Given the description of an element on the screen output the (x, y) to click on. 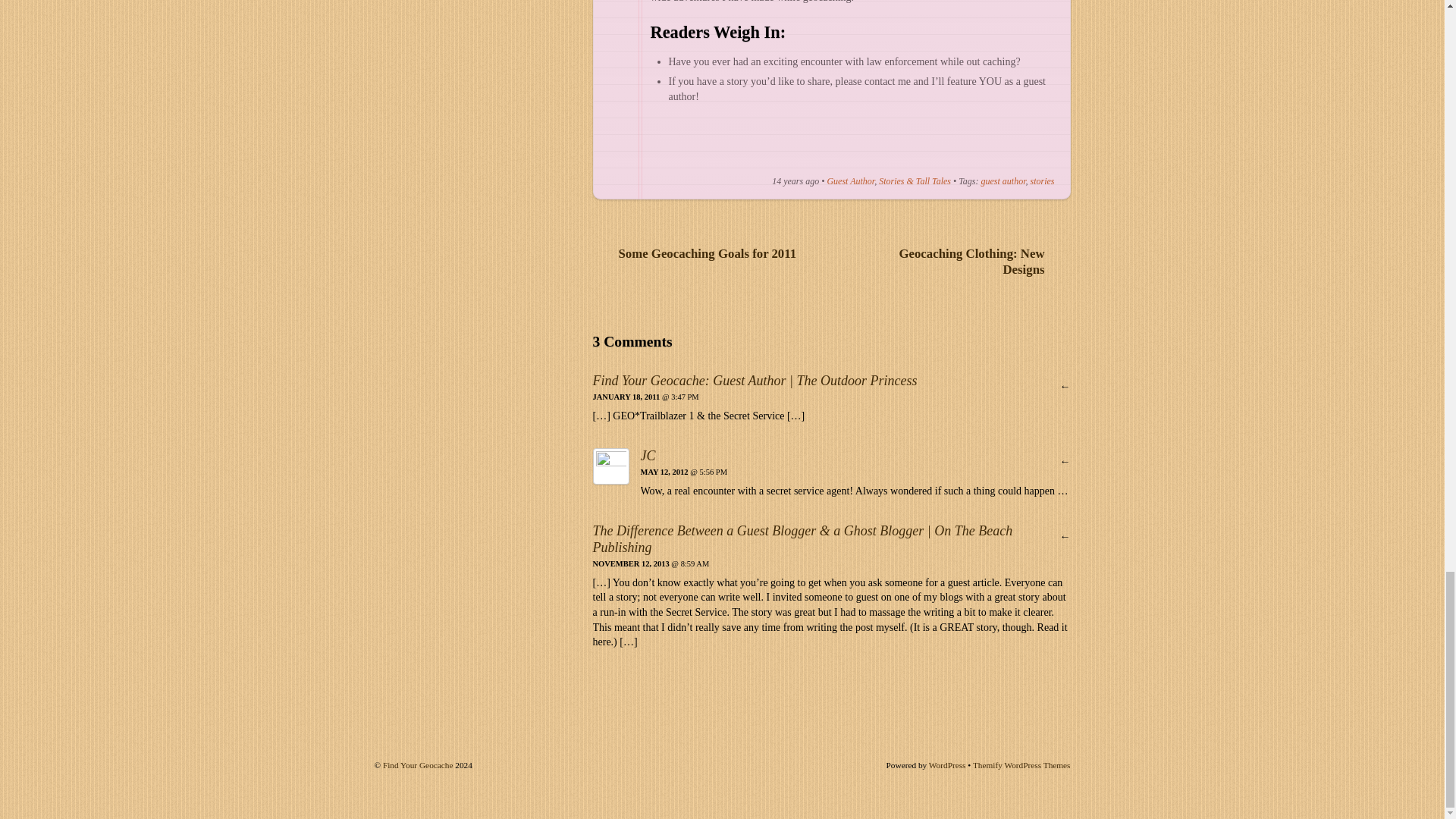
Array (862, 149)
Some Geocaching Goals for 2011 (700, 253)
JC (647, 455)
Array (817, 149)
Array (680, 149)
stories (1041, 181)
Array (771, 149)
Geocaching Clothing: New Designs (963, 260)
guest author (1002, 181)
Guest Author (851, 181)
